Given the description of an element on the screen output the (x, y) to click on. 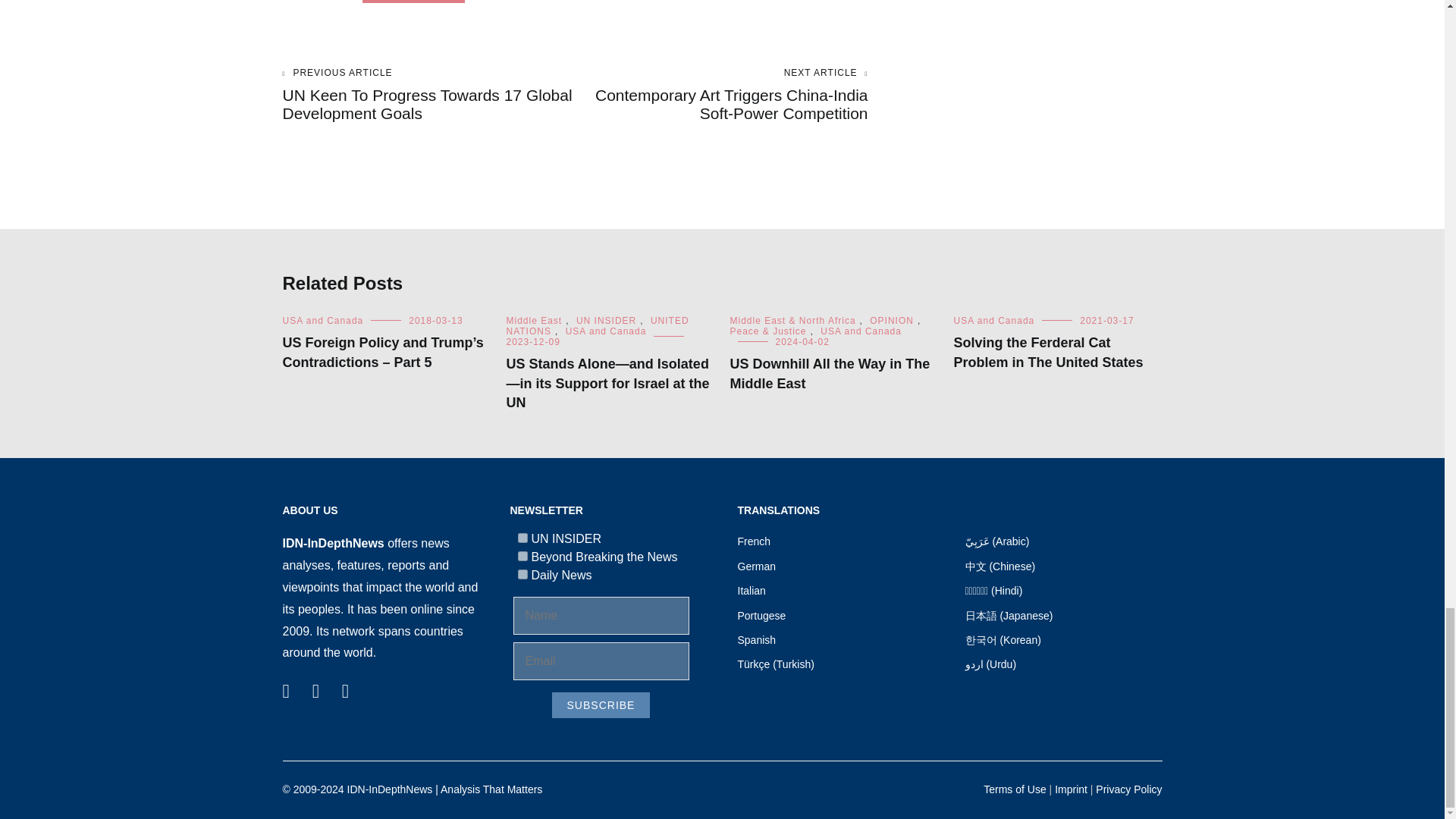
7 (521, 537)
10 (521, 574)
9 (521, 556)
